Given the description of an element on the screen output the (x, y) to click on. 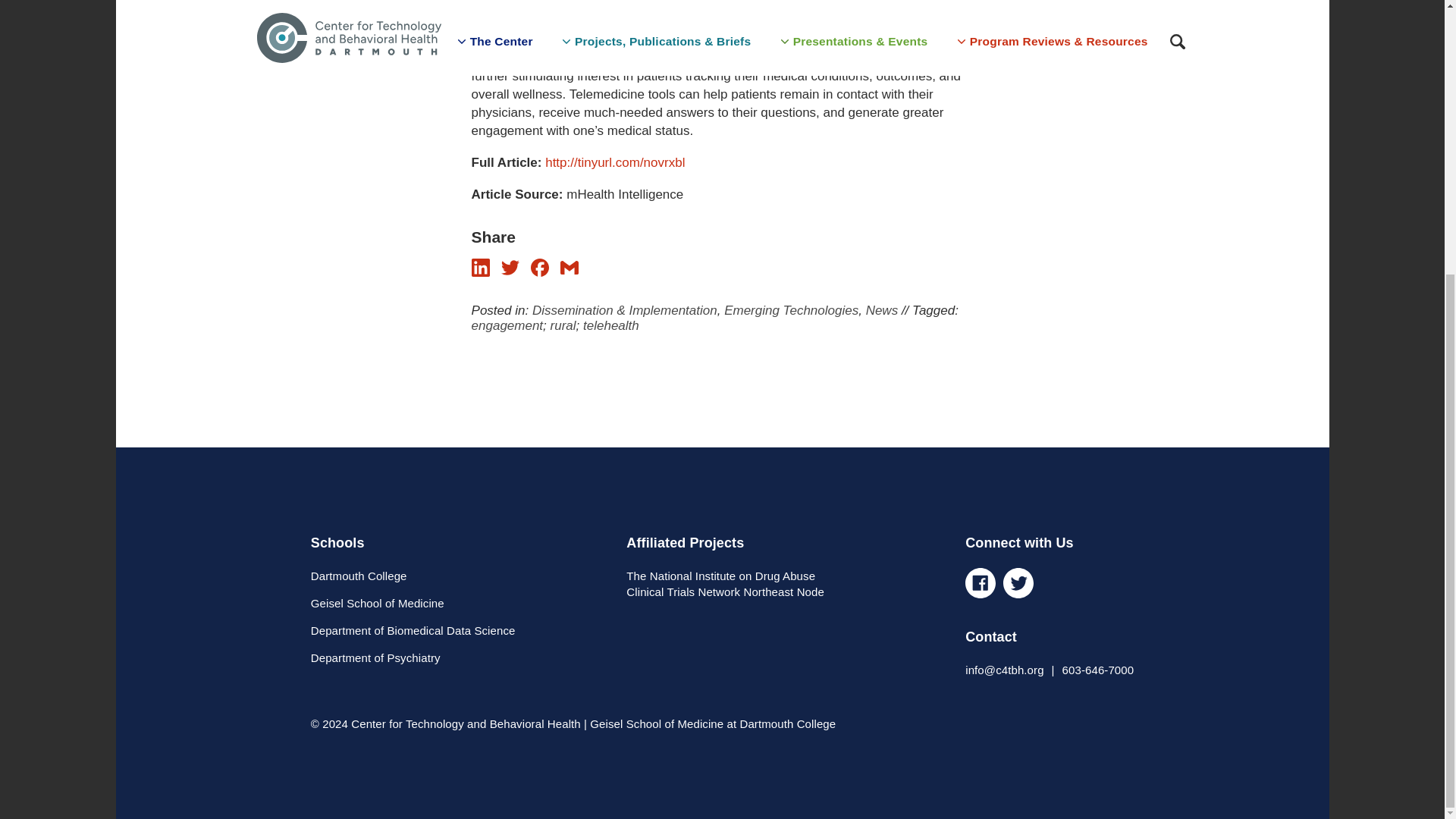
Geisel School of Medicine (377, 603)
LinkedIn (480, 272)
Dartmouth College (359, 575)
News (882, 310)
Twitter (509, 272)
telehealth (611, 325)
rural (563, 325)
Gmail (569, 267)
Twitter (509, 267)
LinkedIn (480, 267)
Facebook (539, 272)
Facebook (539, 267)
Emerging Technologies (791, 310)
Gmail (569, 272)
engagement (507, 325)
